Given the description of an element on the screen output the (x, y) to click on. 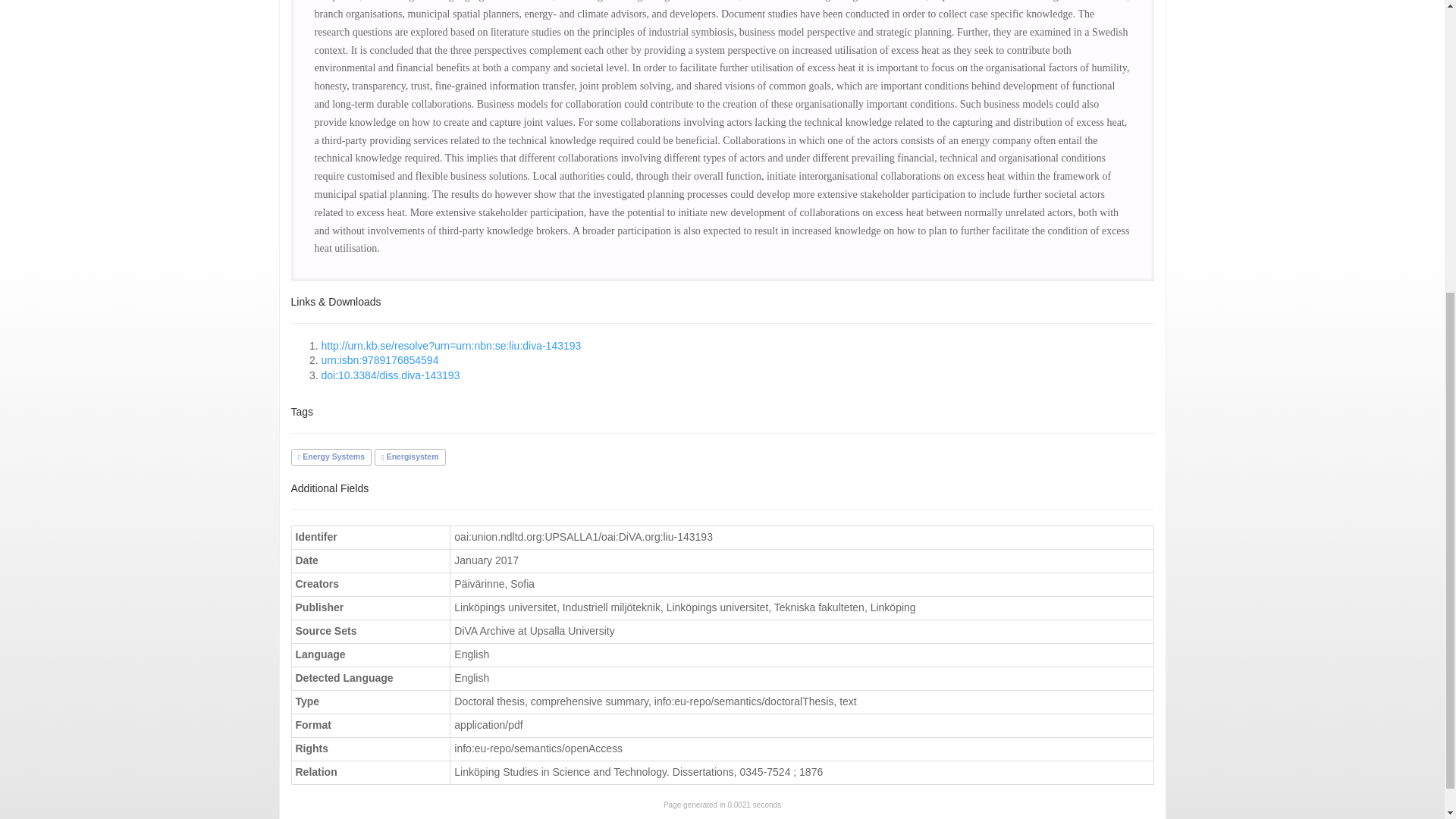
Energisystem (410, 456)
Energy Systems (330, 456)
urn:isbn:9789176854594 (380, 359)
